Given the description of an element on the screen output the (x, y) to click on. 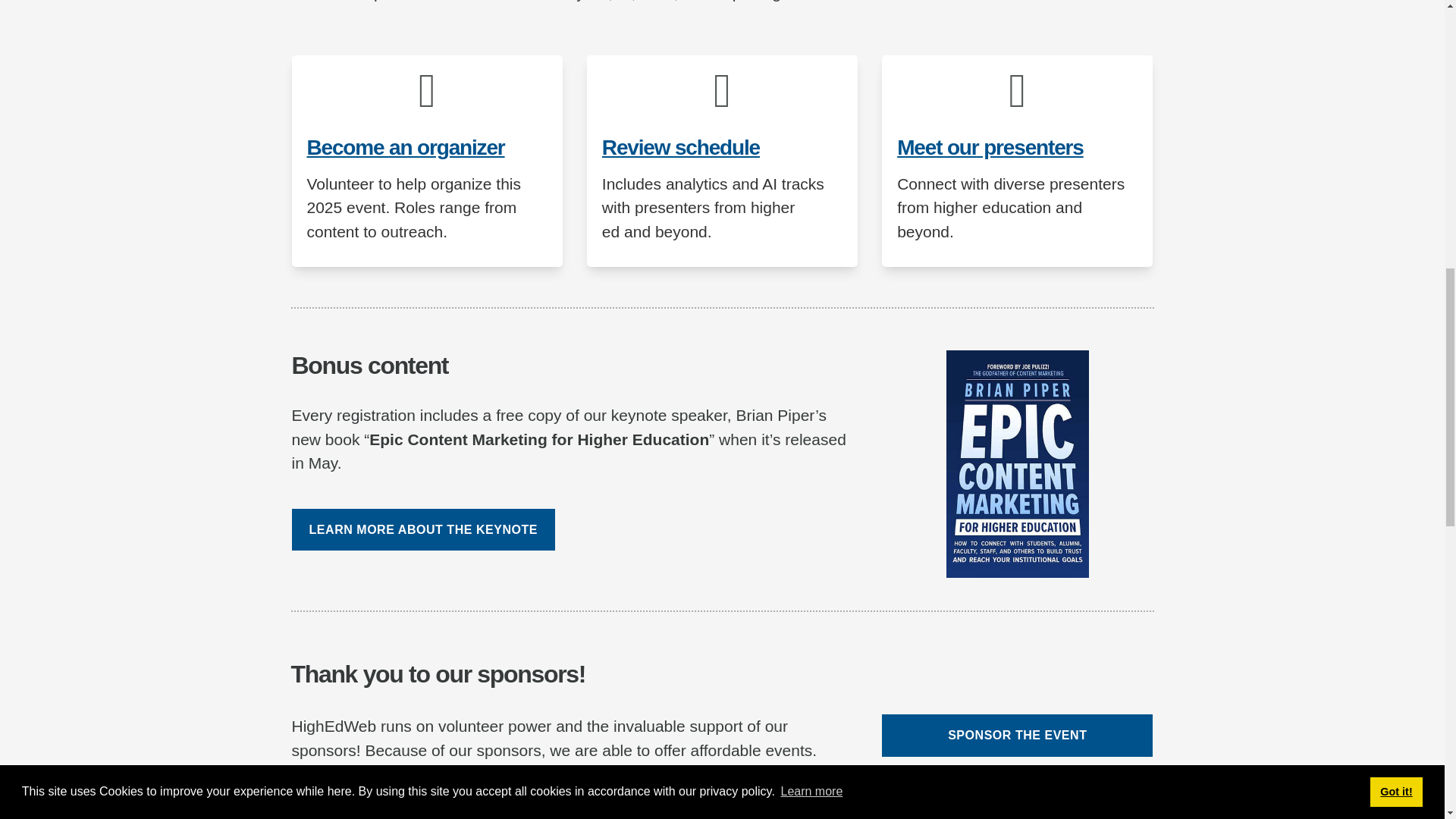
Meet our presenters (989, 146)
SPONSOR THE EVENT (1017, 734)
Become an organizer (404, 146)
LEARN MORE ABOUT THE KEYNOTE (422, 529)
Review schedule (681, 146)
